Given the description of an element on the screen output the (x, y) to click on. 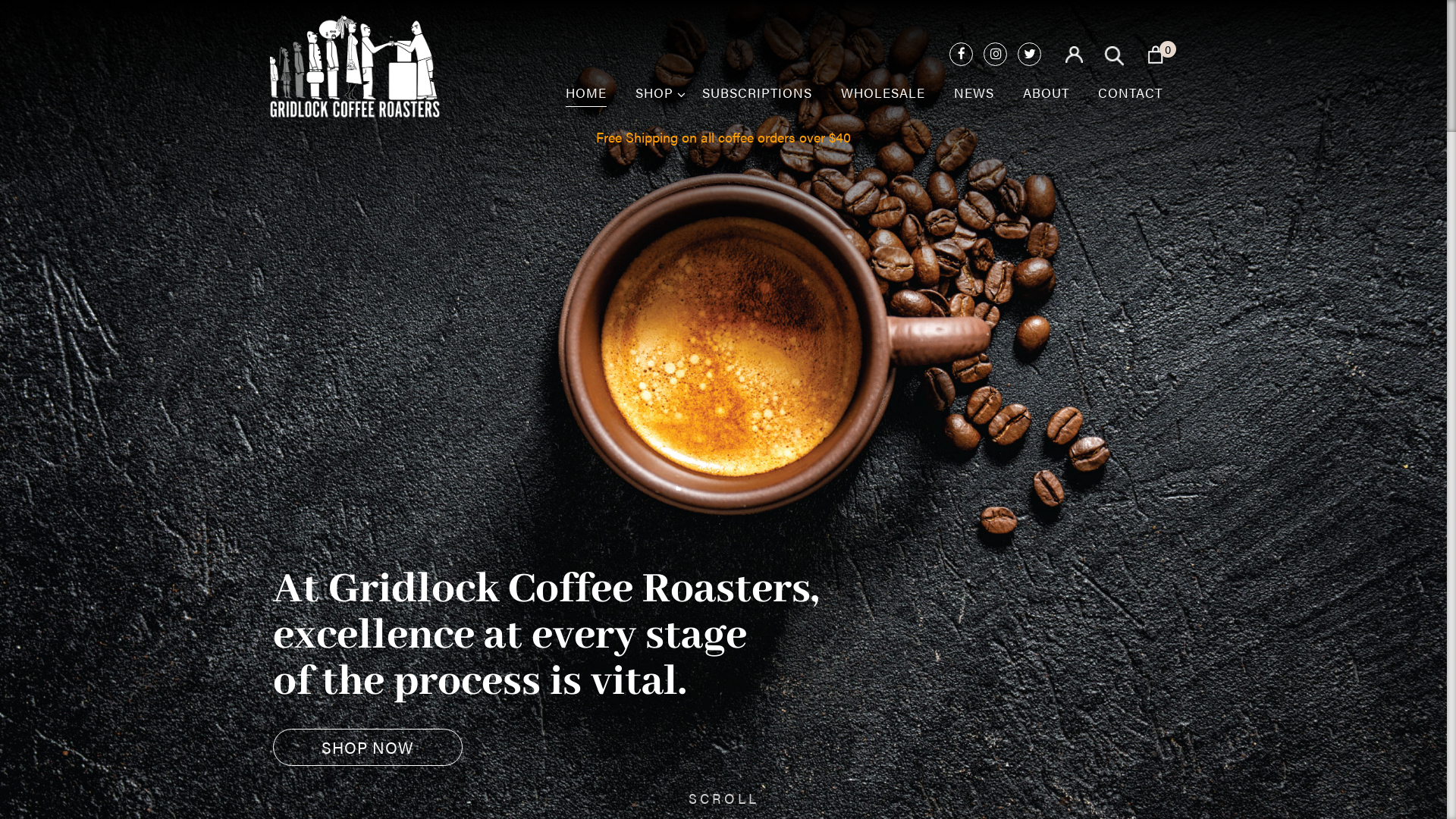
SHOP Element type: text (654, 100)
SUBSCRIPTIONS Element type: text (757, 100)
ABOUT Element type: text (1045, 100)
0 Element type: text (1156, 53)
HOME Element type: text (585, 100)
WHOLESALE Element type: text (882, 100)
CONTACT Element type: text (1130, 100)
NEWS Element type: text (973, 100)
SHOP NOW Element type: text (367, 746)
